Given the description of an element on the screen output the (x, y) to click on. 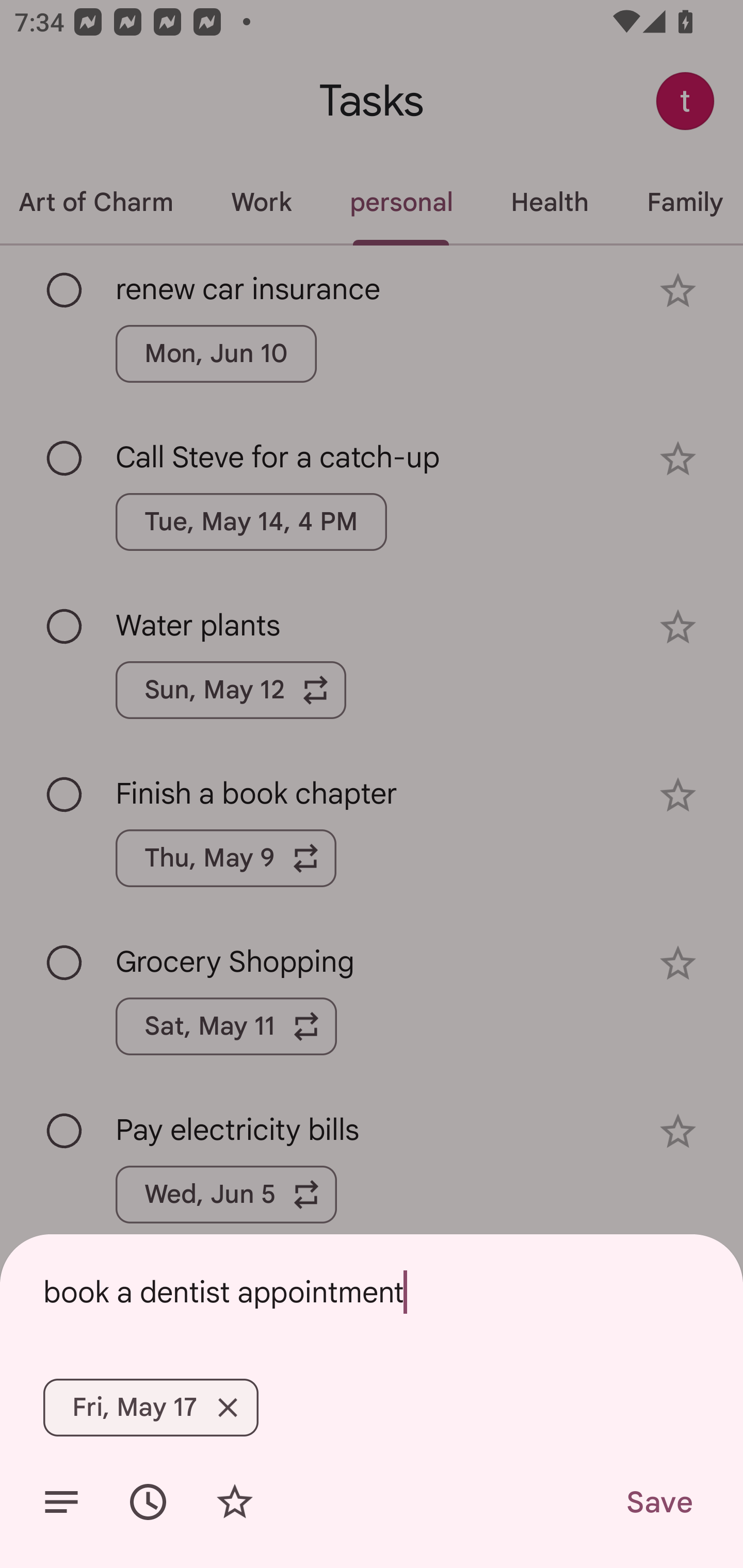
book a dentist appointment (371, 1291)
Fri, May 17 Remove Fri, May 17 (150, 1407)
Save (659, 1501)
Add details (60, 1501)
Set date/time (147, 1501)
Add star (234, 1501)
